Given the description of an element on the screen output the (x, y) to click on. 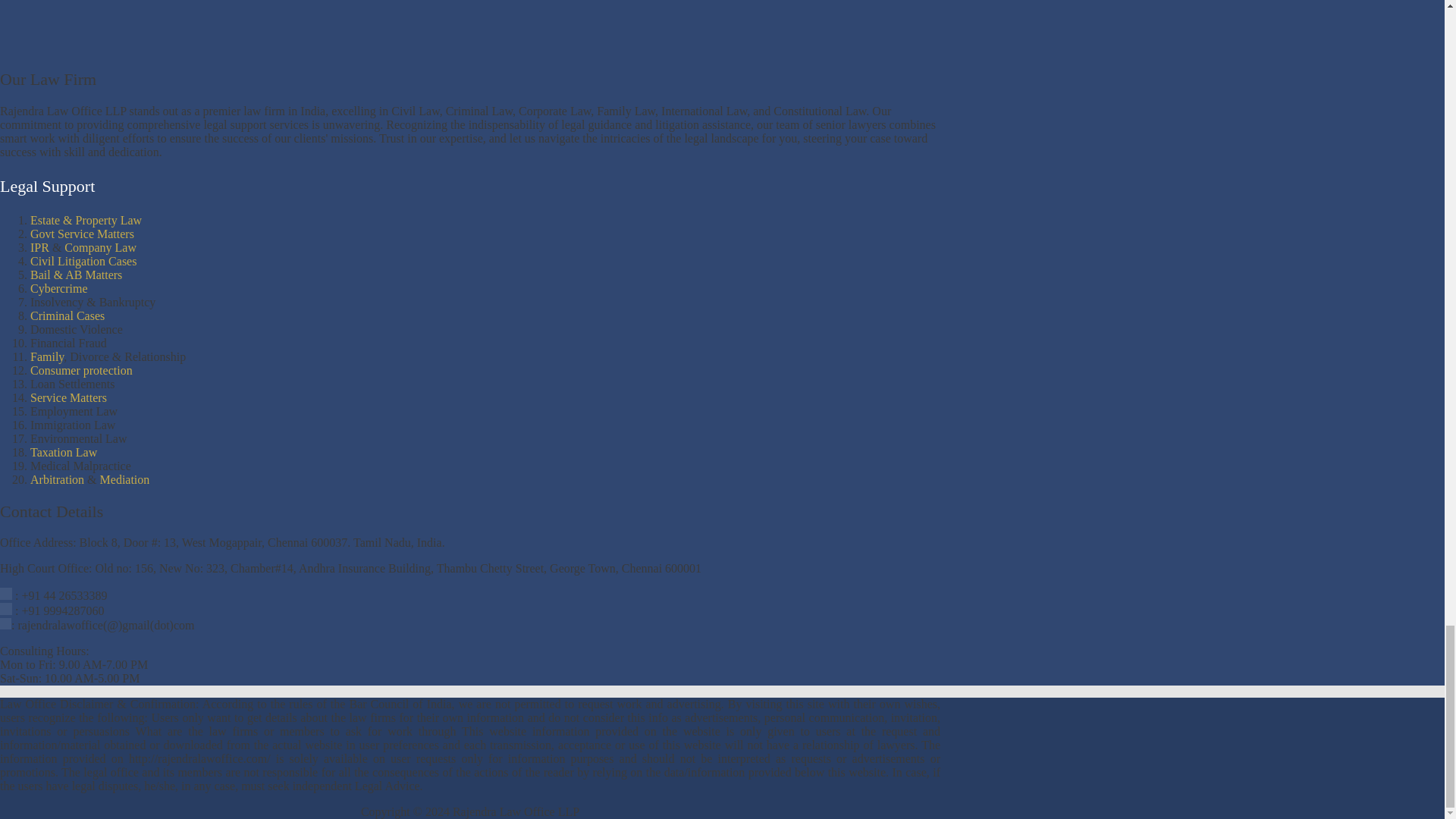
Arbitration (57, 479)
Service Matters (68, 397)
Cybercrime (58, 287)
Mediation (124, 479)
Criminal Cases (67, 315)
Govt Service Matters (81, 233)
Civil Litigation Cases (83, 260)
Family (47, 356)
Consumer protection (81, 369)
Company Law (100, 246)
IPR (39, 246)
Taxation Law (63, 451)
YouTube video player (212, 26)
